Given the description of an element on the screen output the (x, y) to click on. 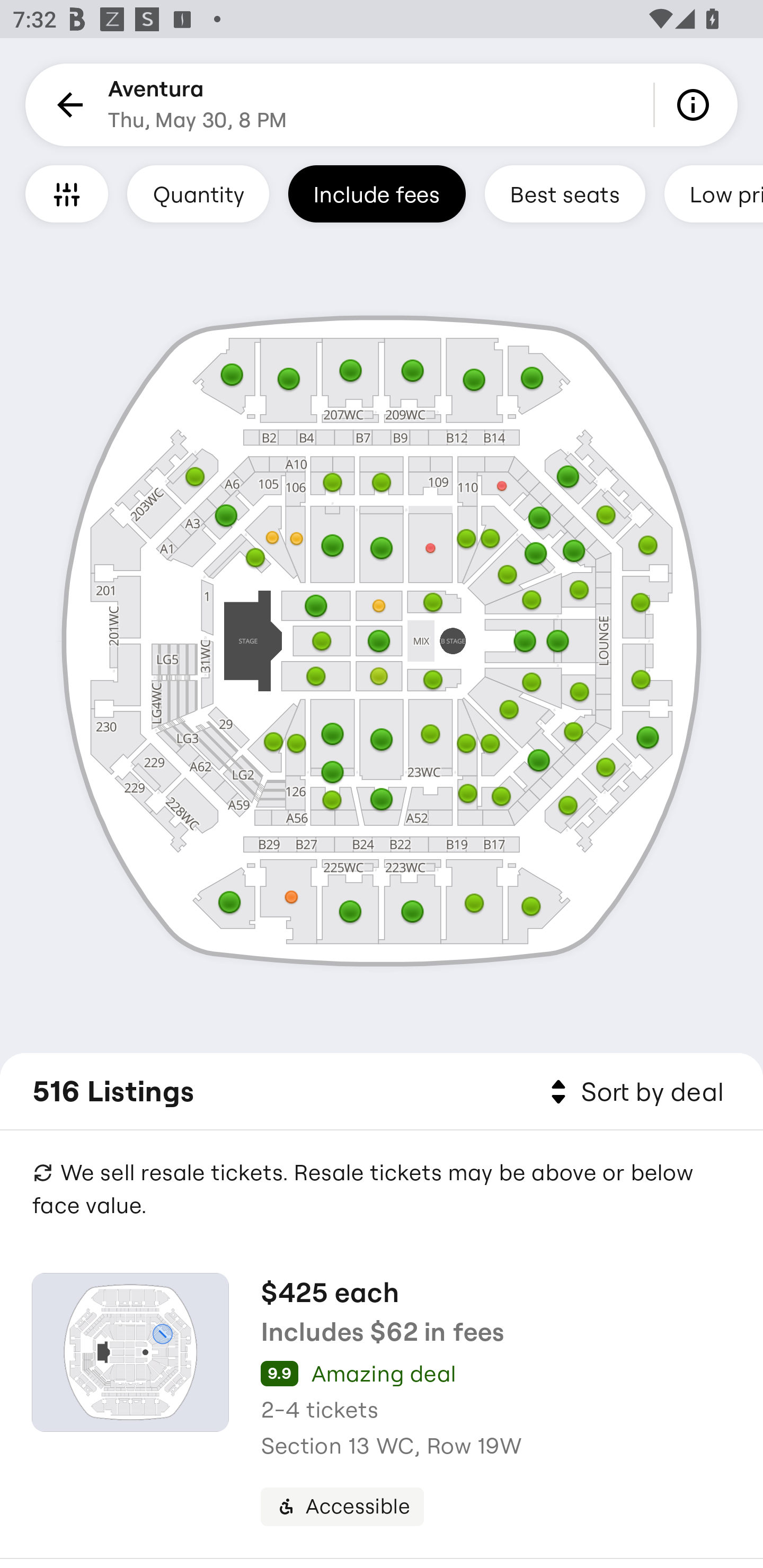
Back (66, 104)
Aventura Thu, May 30, 8 PM (197, 104)
Info (695, 104)
Filters and Accessible Seating (66, 193)
Quantity (198, 193)
Include fees (376, 193)
Best seats (564, 193)
Sort by deal (633, 1091)
